Given the description of an element on the screen output the (x, y) to click on. 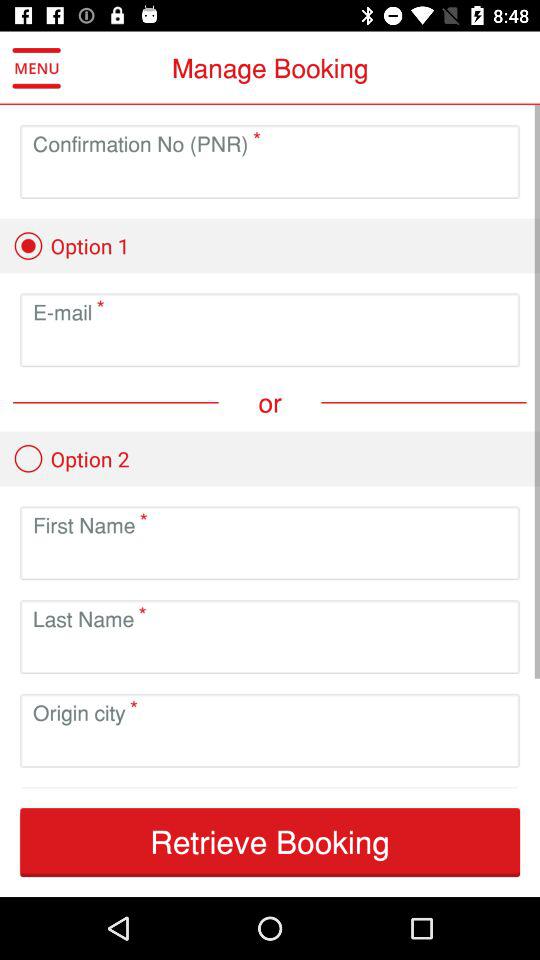
enter first name (270, 558)
